Given the description of an element on the screen output the (x, y) to click on. 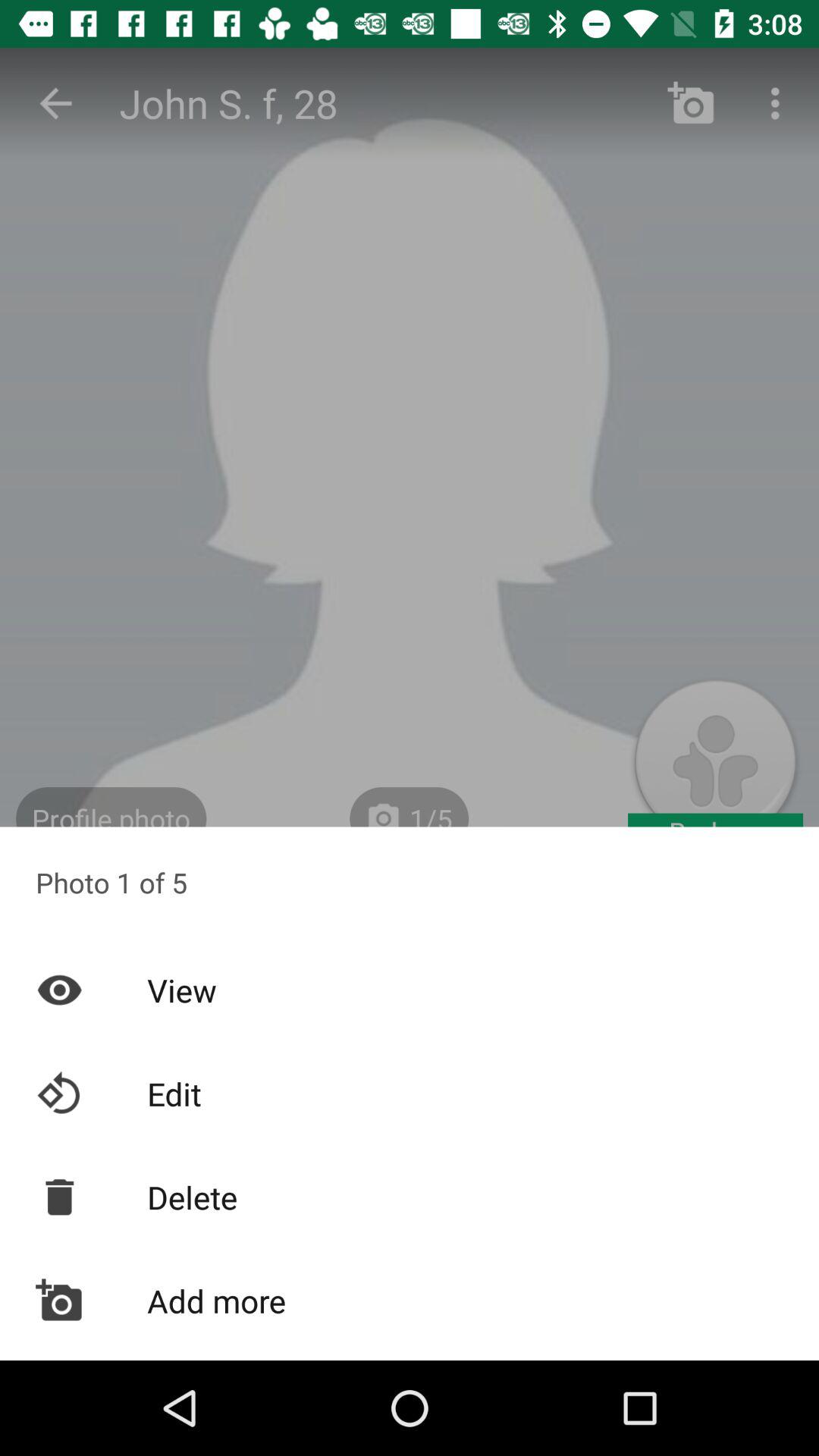
scroll to the view item (409, 989)
